Given the description of an element on the screen output the (x, y) to click on. 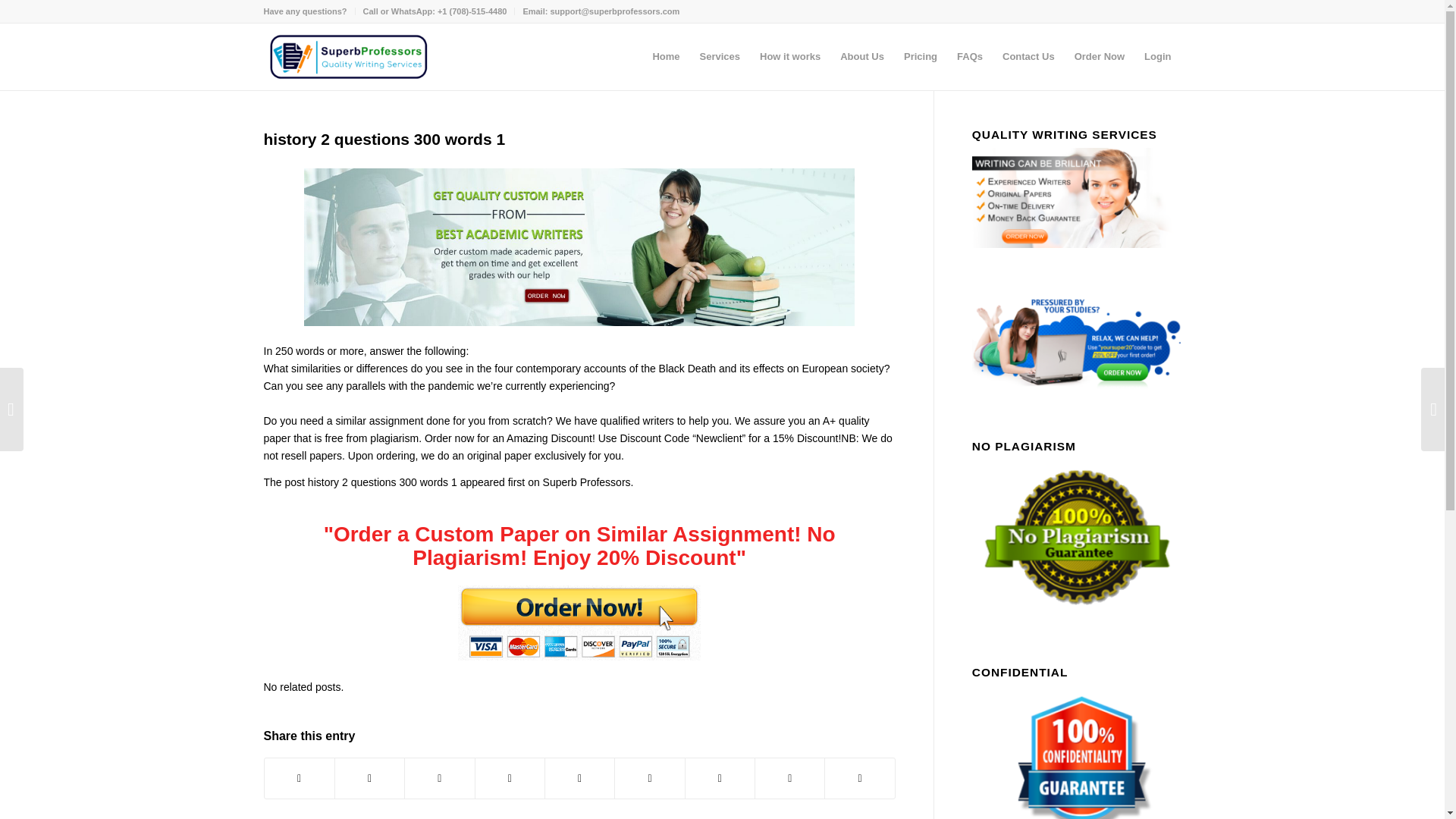
How it works (789, 56)
history 2 questions 300 words 1 (384, 139)
About Us (861, 56)
Services (720, 56)
Contact Us (1028, 56)
Permanent Link: history 2 questions 300 words 1 (384, 139)
Order Now (1099, 56)
Have any questions? (305, 11)
